Given the description of an element on the screen output the (x, y) to click on. 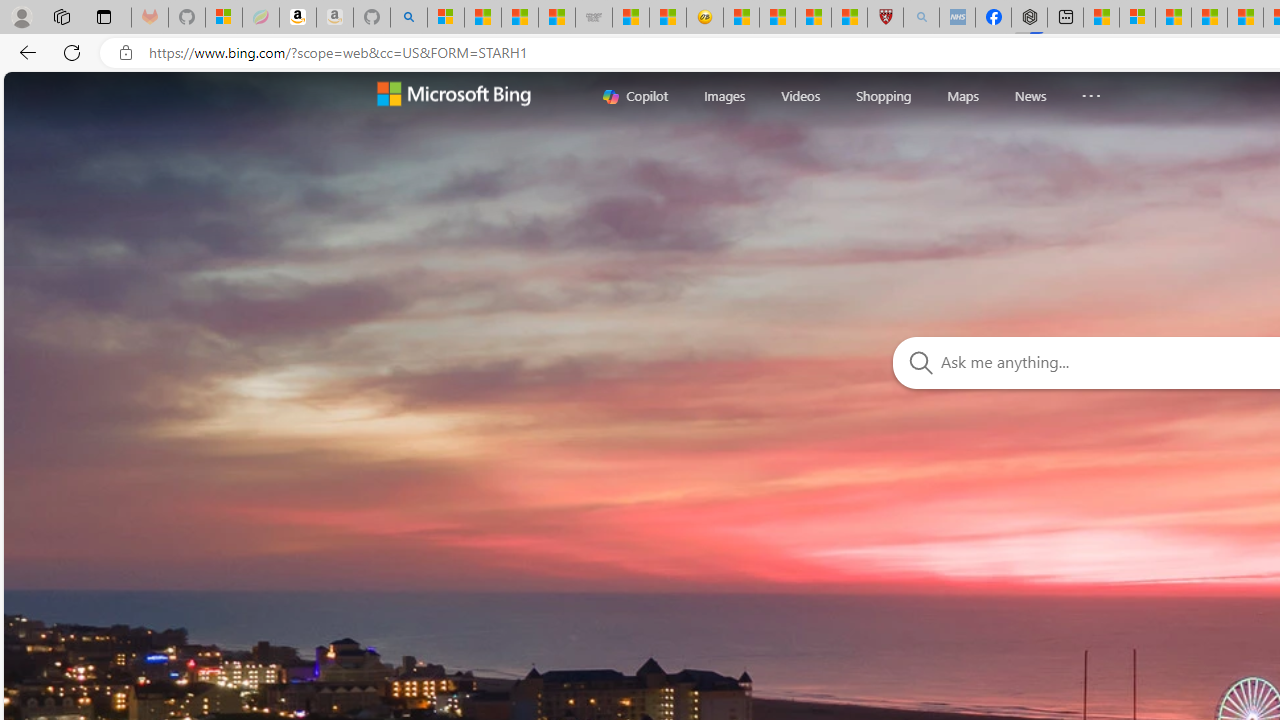
Shopping (883, 95)
More (1090, 91)
